Given the description of an element on the screen output the (x, y) to click on. 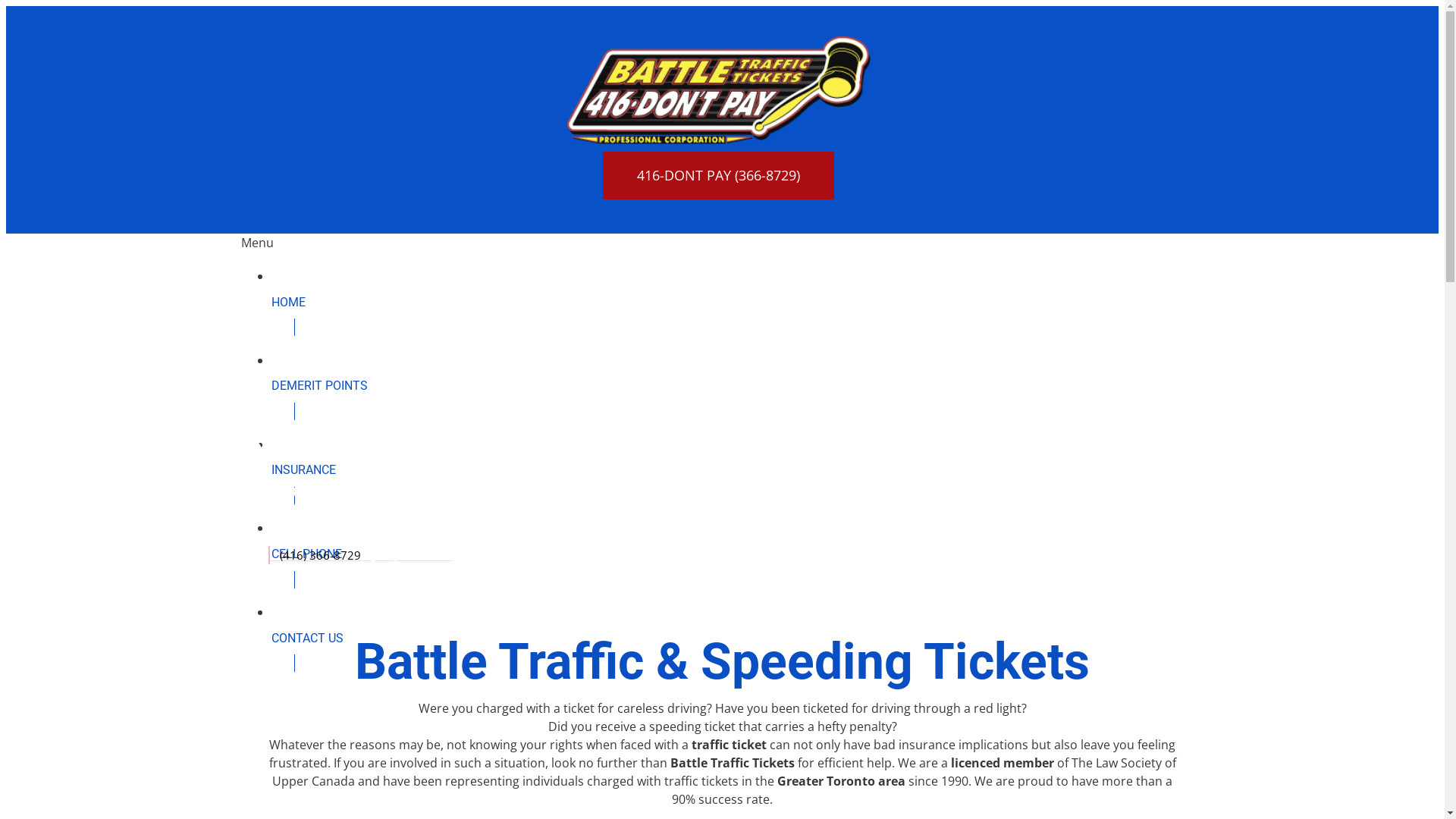
INSURANCE Element type: text (737, 470)
CONTACT US Element type: text (737, 637)
Go to site home page Element type: hover (718, 131)
HOME Element type: text (737, 301)
CELL PHONE Element type: text (737, 553)
416-DONT PAY (366-8729) Element type: text (718, 175)
Go to site home page Element type: hover (718, 90)
DEMERIT POINTS Element type: text (737, 385)
